Given the description of an element on the screen output the (x, y) to click on. 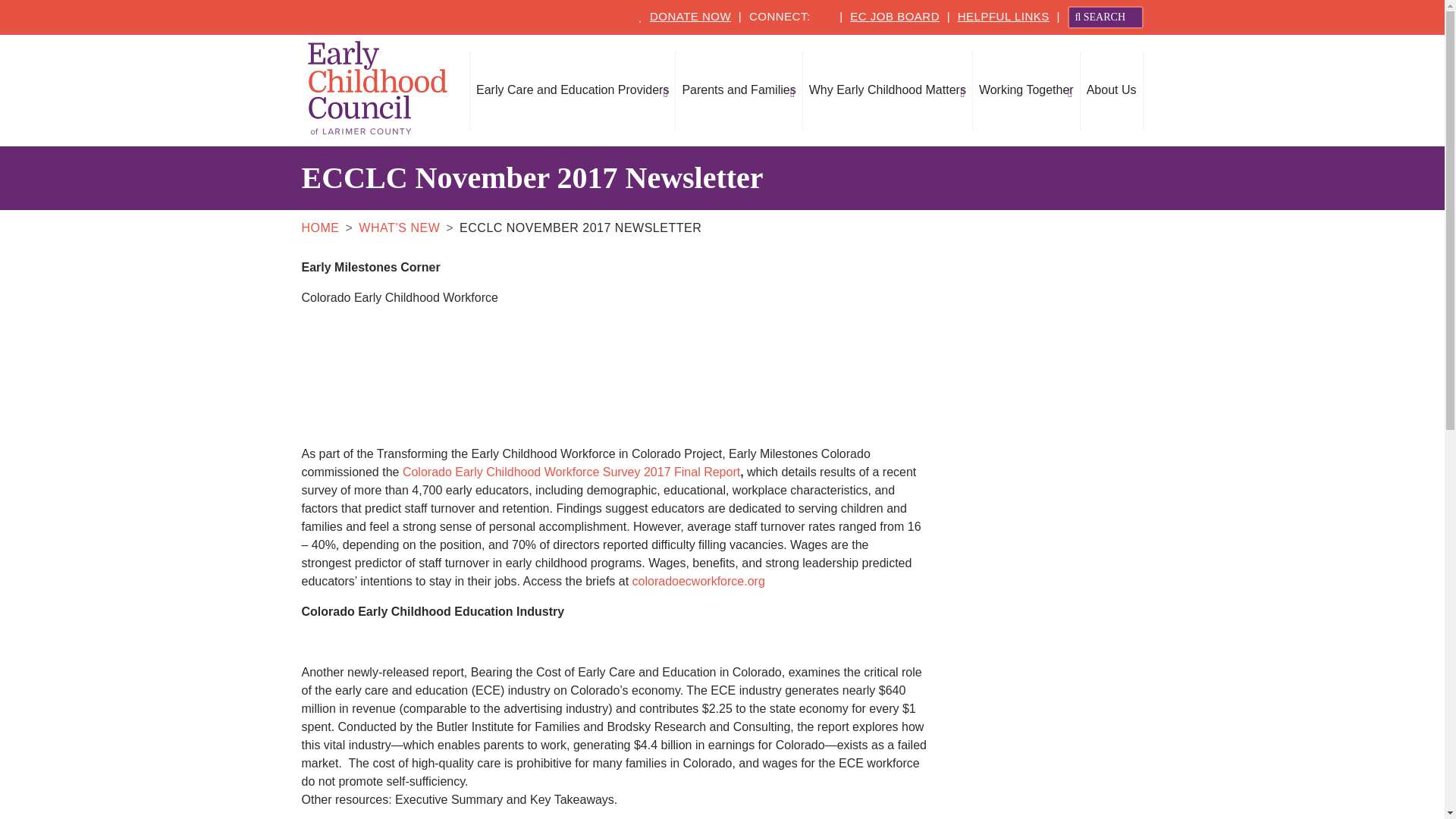
Early Care and Education Providers (572, 89)
DONATE NOW (689, 15)
Parents and Families (738, 89)
Working Together (1026, 89)
Colorado Early Childhood Workforce Survey 2017 Final Report (571, 472)
coloradoecworkforce.org (698, 581)
HOME (320, 227)
EC JOB BOARD (894, 15)
Early Care and Education Providers (572, 89)
Why Early Childhood Matters (887, 89)
Working Together (1026, 89)
HELPFUL LINKS (1003, 15)
Why Early Childhood Matters (887, 89)
Parents and Families (738, 89)
